Given the description of an element on the screen output the (x, y) to click on. 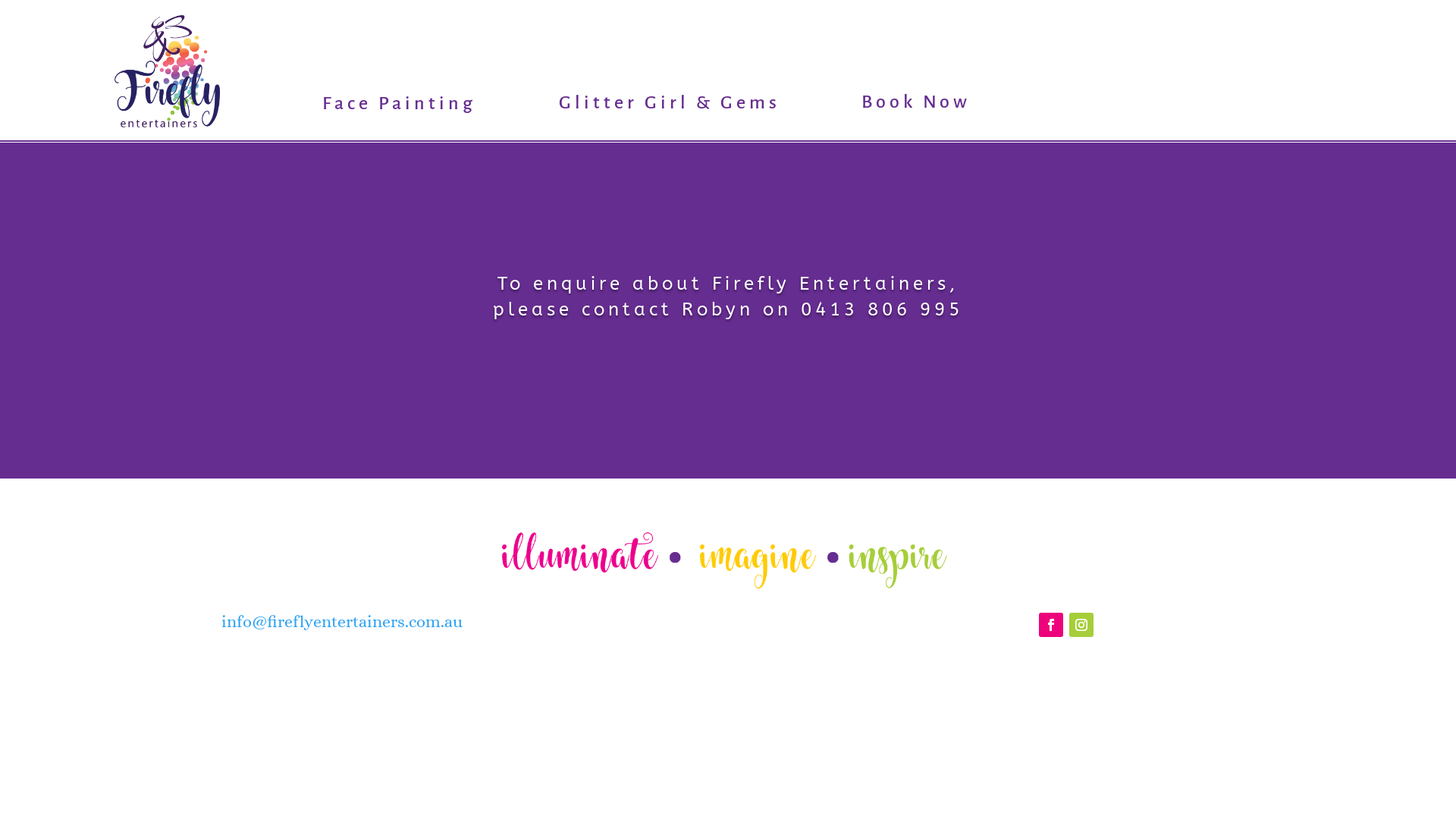
Follow on Instagram Element type: hover (1081, 624)
Colour Words Element type: hover (727, 559)
Follow on Facebook Element type: hover (1050, 624)
Firefly Logo Element type: hover (166, 71)
info@fireflyentertainers.com.au Element type: text (341, 620)
